Given the description of an element on the screen output the (x, y) to click on. 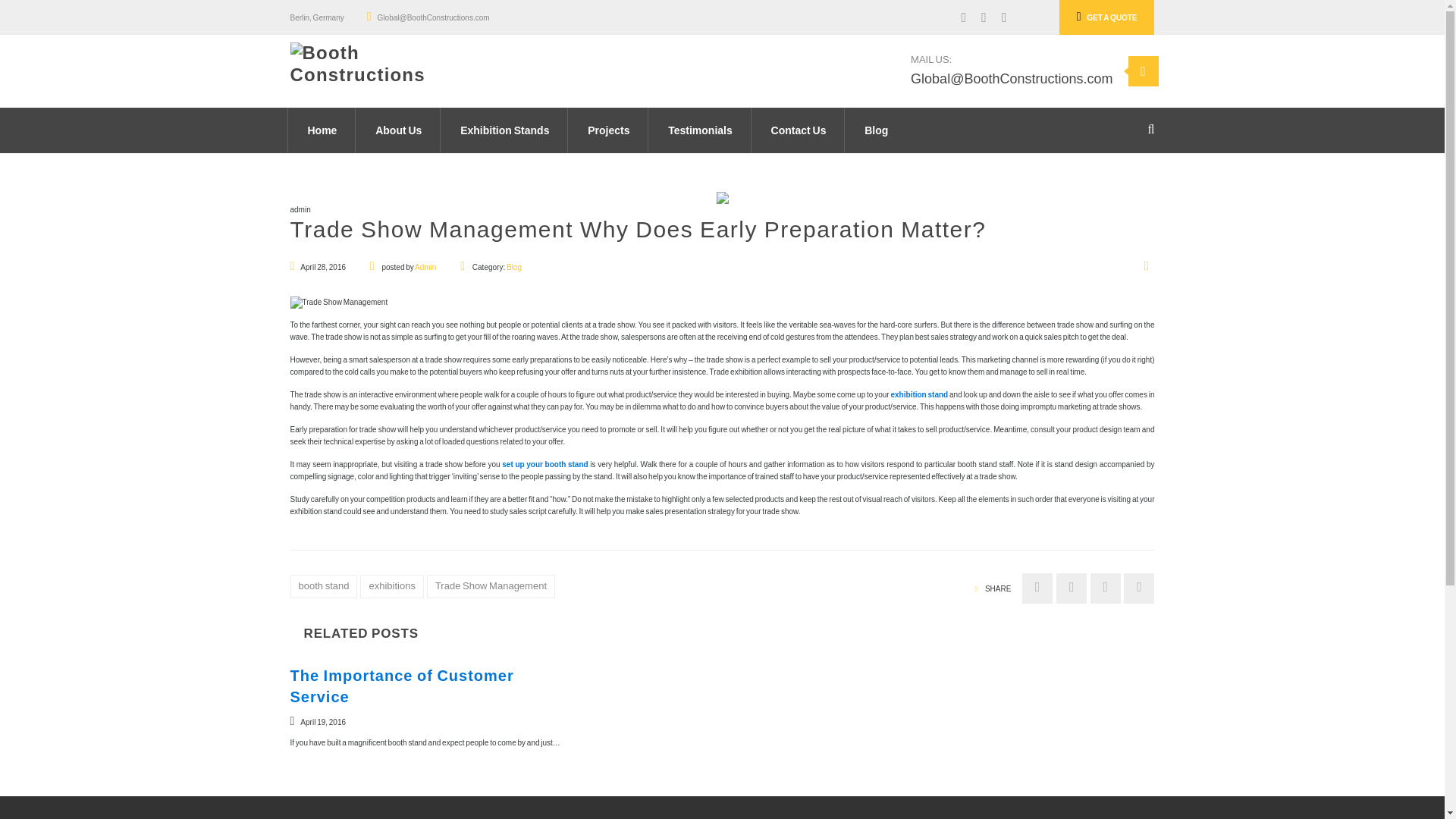
Testimonials (700, 130)
Booth Constructions - BoothConstructions (389, 62)
Twitter (976, 17)
Projects (608, 130)
About Us (398, 130)
Home (322, 130)
Posts by admin (424, 266)
GET A QUOTE (1106, 17)
Google plus (997, 17)
Exhibition Stands (504, 130)
